Given the description of an element on the screen output the (x, y) to click on. 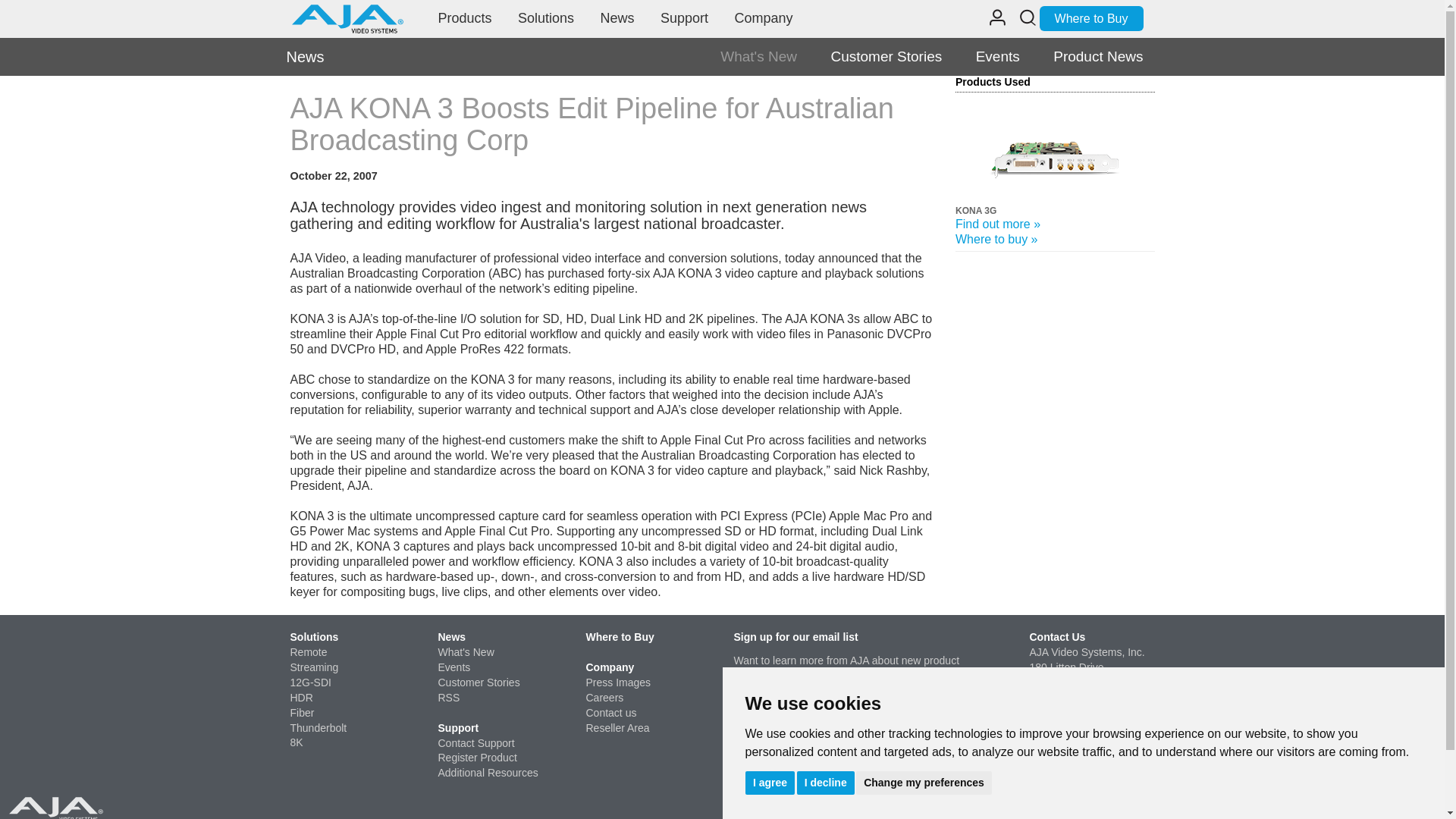
I agree (768, 781)
I decline (824, 781)
Home (346, 14)
Change my preferences (923, 781)
